Given the description of an element on the screen output the (x, y) to click on. 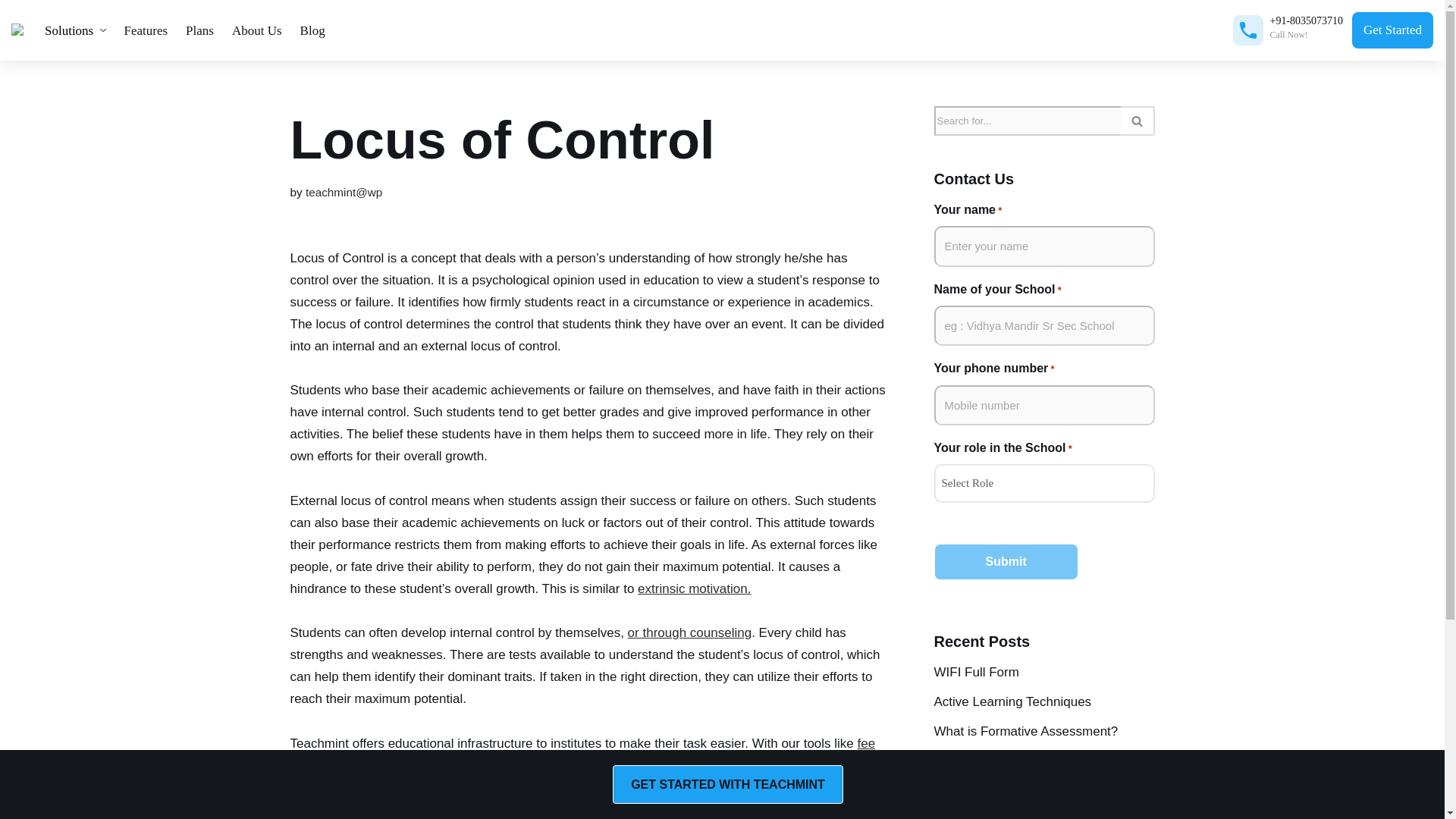
Submit (1006, 561)
Plans (199, 30)
Skip to content (11, 31)
Features (146, 30)
About Us (256, 30)
Blog (312, 30)
